Given the description of an element on the screen output the (x, y) to click on. 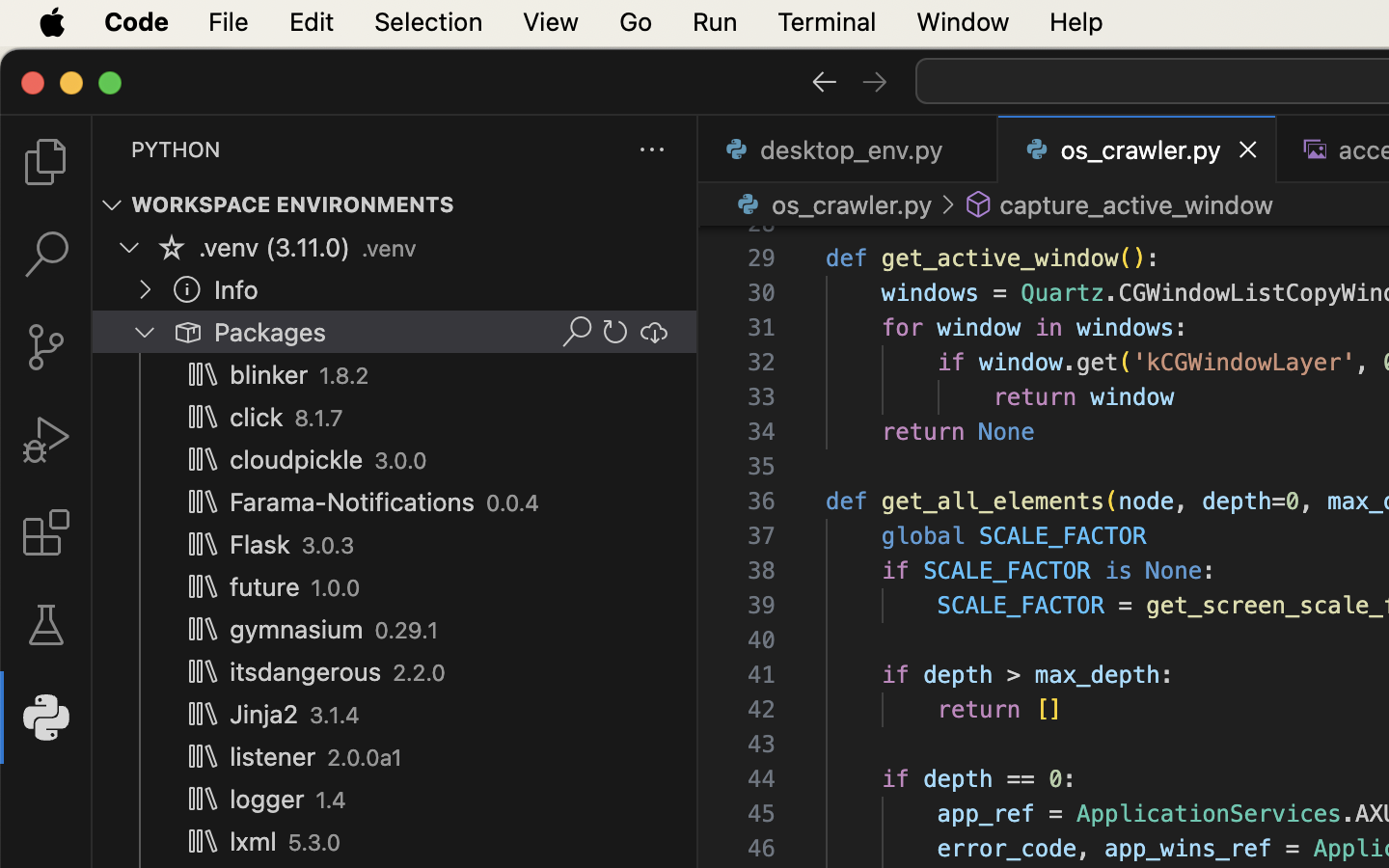
 Element type: AXButton (615, 331)
5.3.0 Element type: AXStaticText (314, 842)
future Element type: AXStaticText (264, 586)
2.0.0a1 Element type: AXStaticText (365, 757)
0  Element type: AXRadioButton (46, 624)
